Given the description of an element on the screen output the (x, y) to click on. 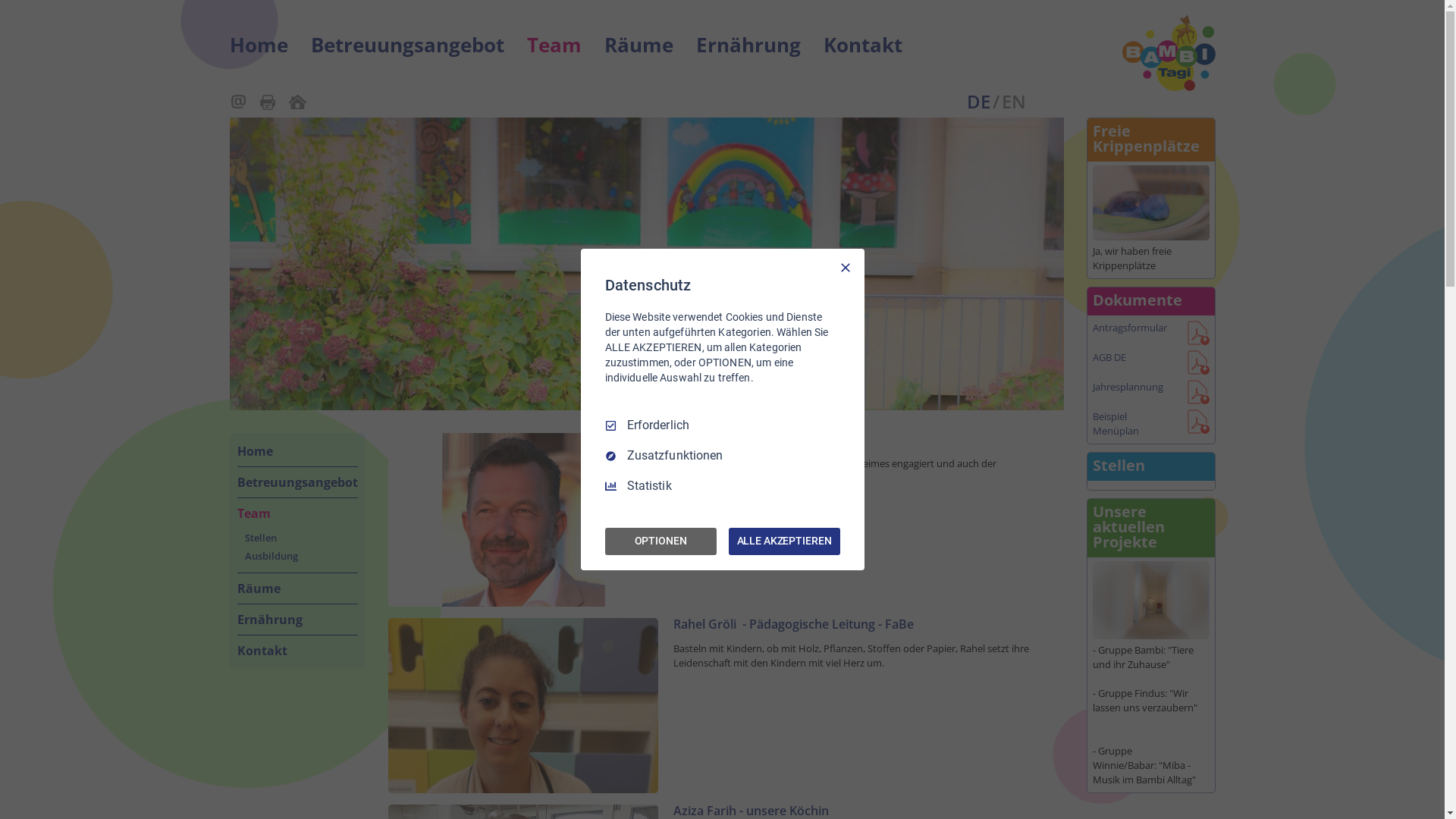
Kontakt Element type: text (862, 44)
Team Element type: text (296, 513)
Antragsformular Element type: text (1131, 327)
Betreuungsangebot Element type: text (407, 44)
Team Element type: text (553, 44)
Stellen Element type: text (300, 537)
AGB DE Element type: text (1131, 357)
Betreuungsangebot Element type: text (296, 482)
Jahresplannung Element type: text (1131, 386)
OPTIONEN Element type: text (660, 541)
EN Element type: text (1013, 100)
ALLE AKZEPTIEREN Element type: text (783, 541)
Home Element type: text (296, 451)
Ausbildung Element type: text (300, 555)
Home Element type: text (258, 44)
DE Element type: text (977, 100)
Kontakt Element type: text (296, 650)
